Given the description of an element on the screen output the (x, y) to click on. 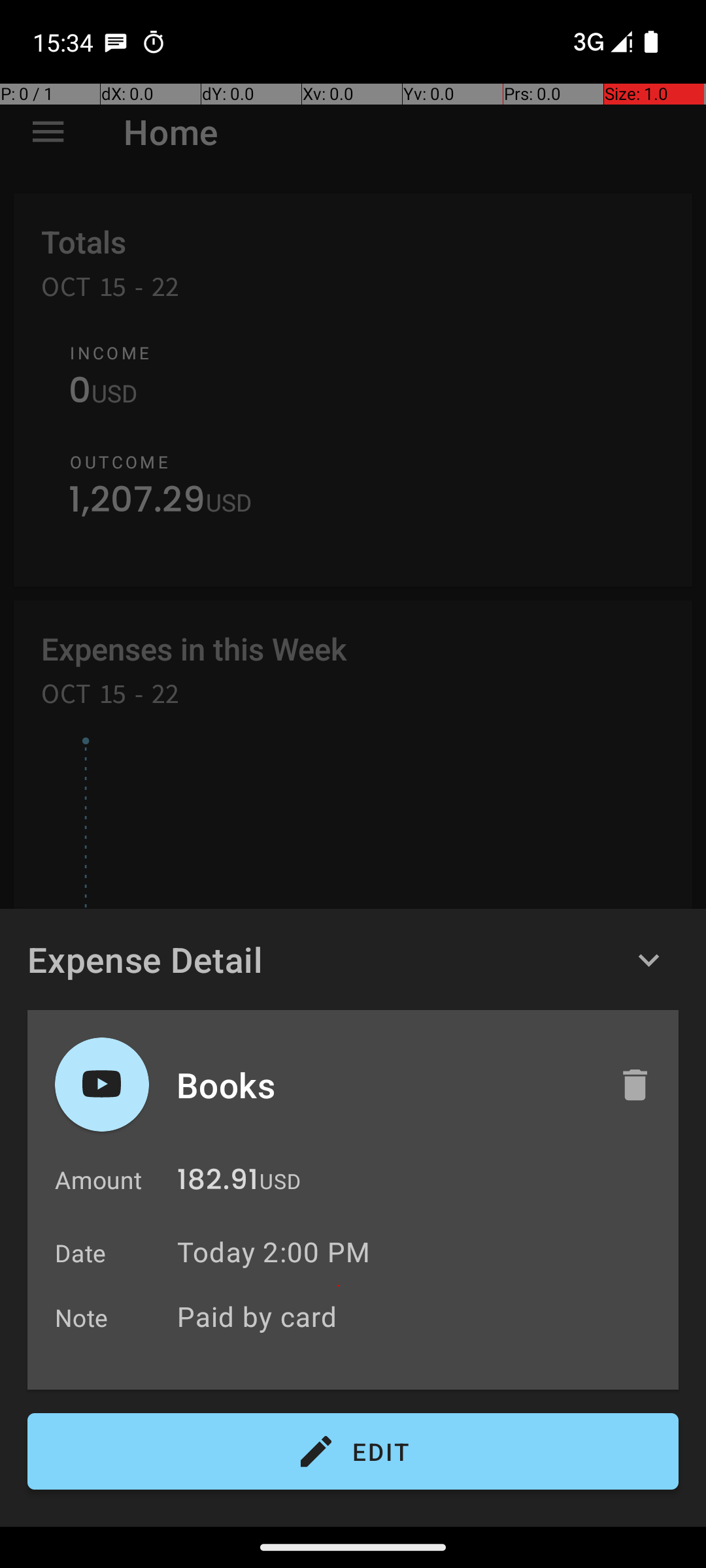
Books Element type: android.widget.TextView (383, 1084)
182.91 Element type: android.widget.TextView (217, 1182)
SMS Messenger notification: Freya Hernandez Element type: android.widget.ImageView (115, 41)
